Given the description of an element on the screen output the (x, y) to click on. 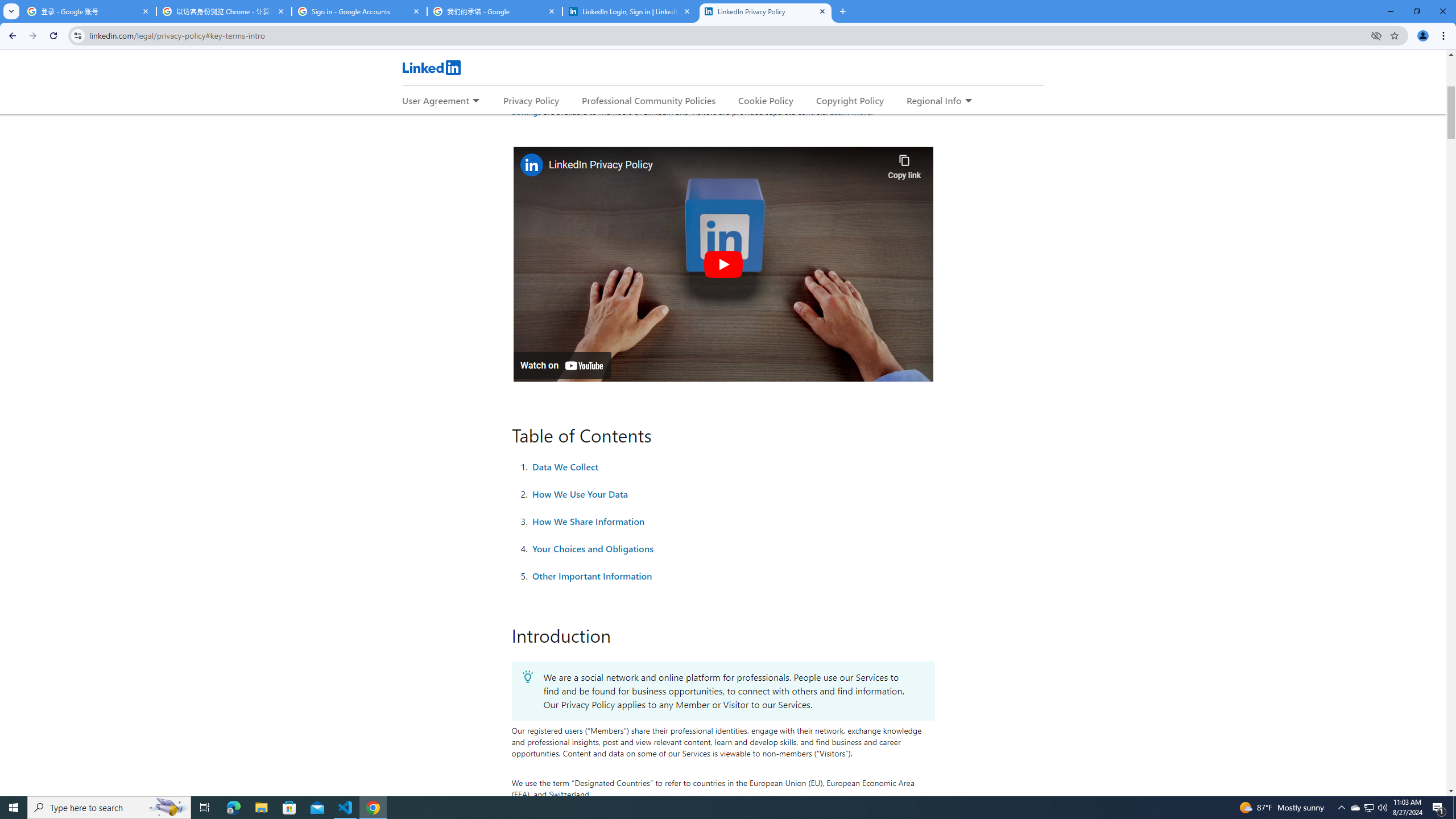
Expand to show more links for Regional Info (967, 101)
LinkedIn Logo (430, 67)
LinkedIn Login, Sign in | LinkedIn (630, 11)
Play (722, 264)
Privacy Policy (530, 100)
Photo image of LinkedIn (531, 164)
Cookie Policy (765, 100)
